Given the description of an element on the screen output the (x, y) to click on. 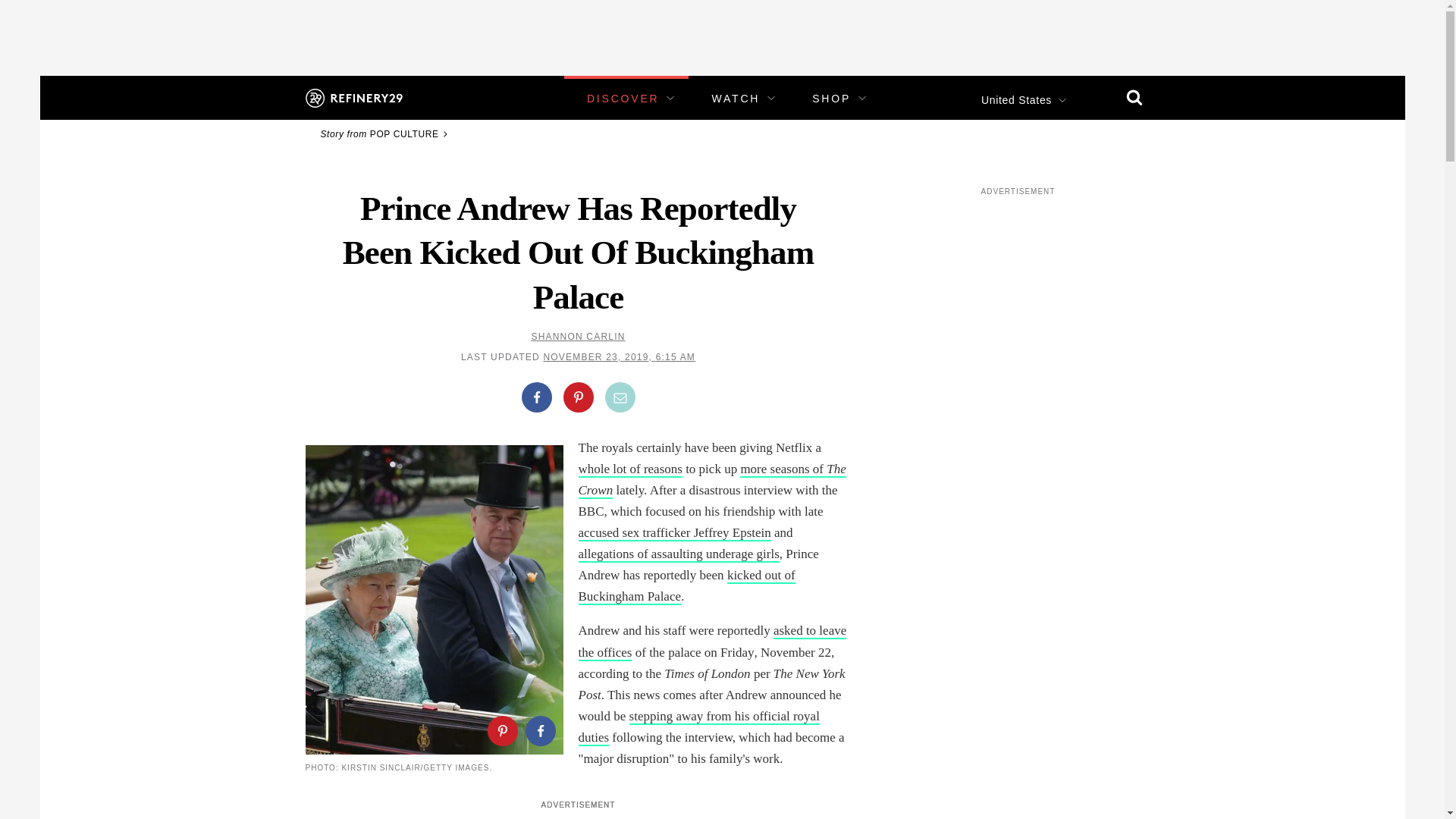
Share on Facebook (539, 730)
Story from POP CULTURE (385, 133)
allegations of assaulting underage girls (678, 554)
SHOP (831, 98)
Share on Facebook (536, 397)
kicked out of Buckingham Palace (686, 586)
The Crown (711, 479)
Share on Pinterest (577, 397)
accused sex trafficker Jeffrey Epstein (674, 533)
more seasons of (783, 469)
asked to leave the offices (711, 641)
stepping away from his official royal duties (698, 727)
Share by Email (619, 397)
NOVEMBER 23, 2019, 6:15 AM (619, 357)
Share on Pinterest (501, 730)
